Given the description of an element on the screen output the (x, y) to click on. 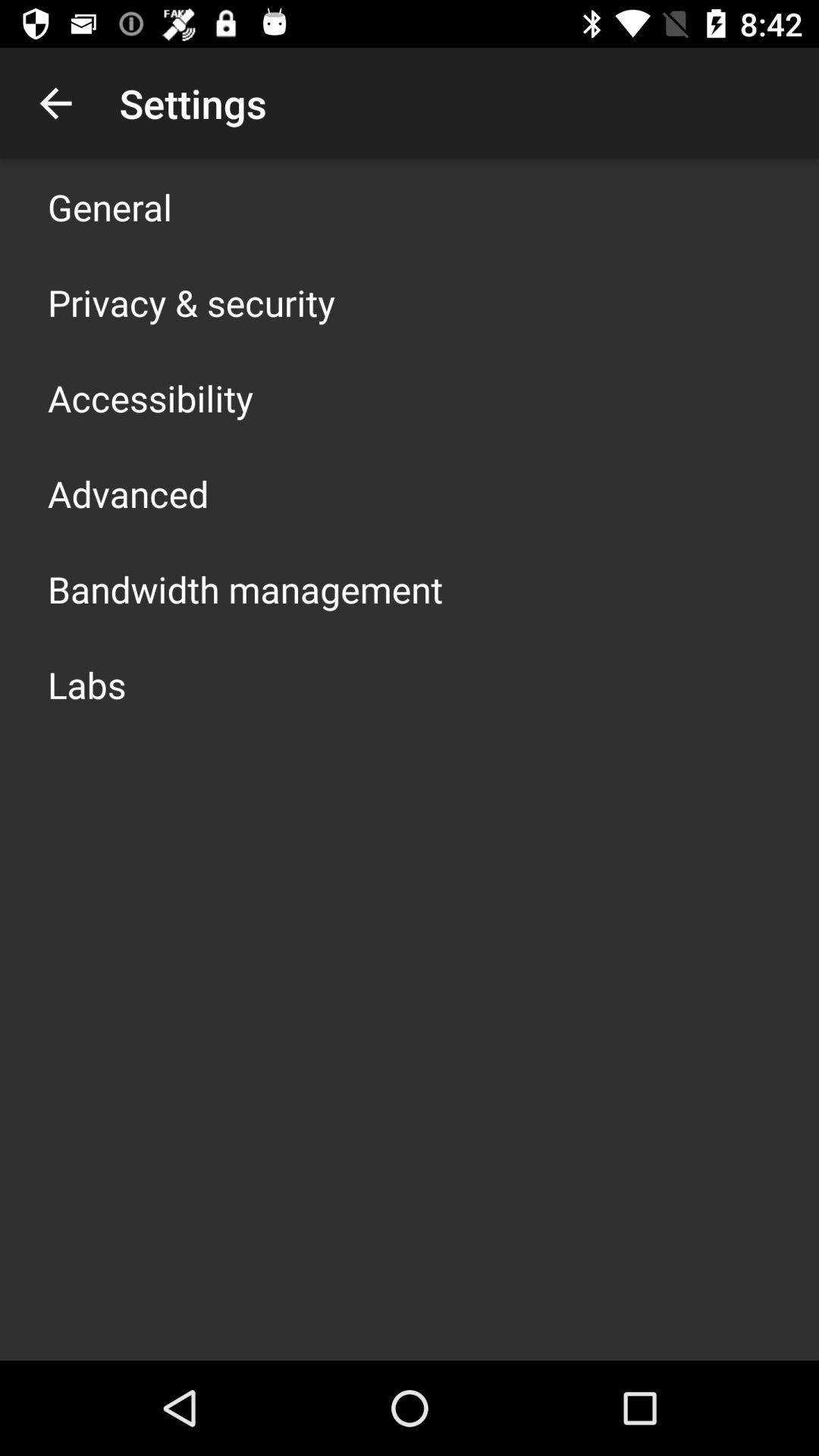
turn off the icon below the advanced icon (245, 588)
